Given the description of an element on the screen output the (x, y) to click on. 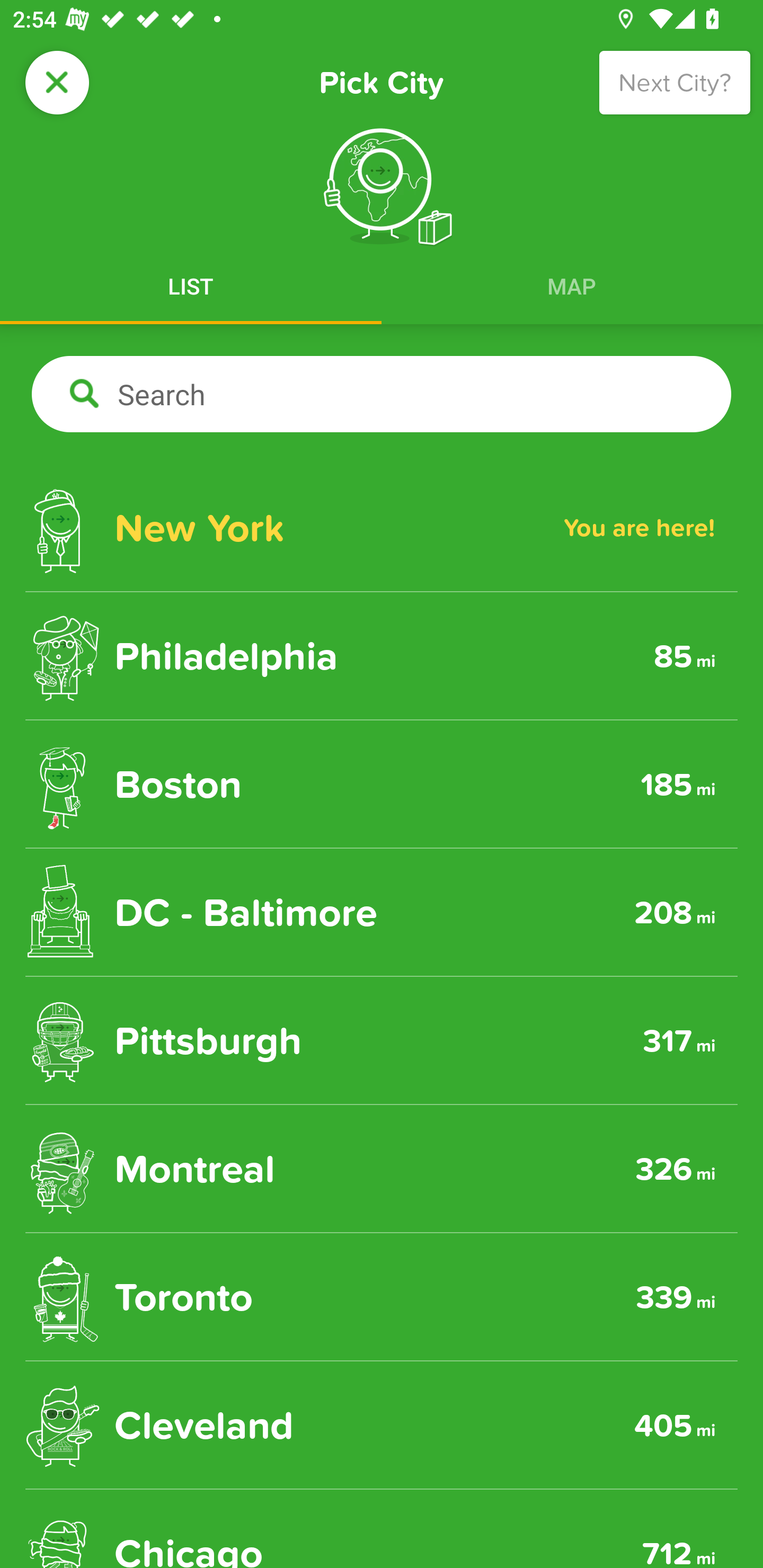
Boston 185 mi (381, 783)
